Given the description of an element on the screen output the (x, y) to click on. 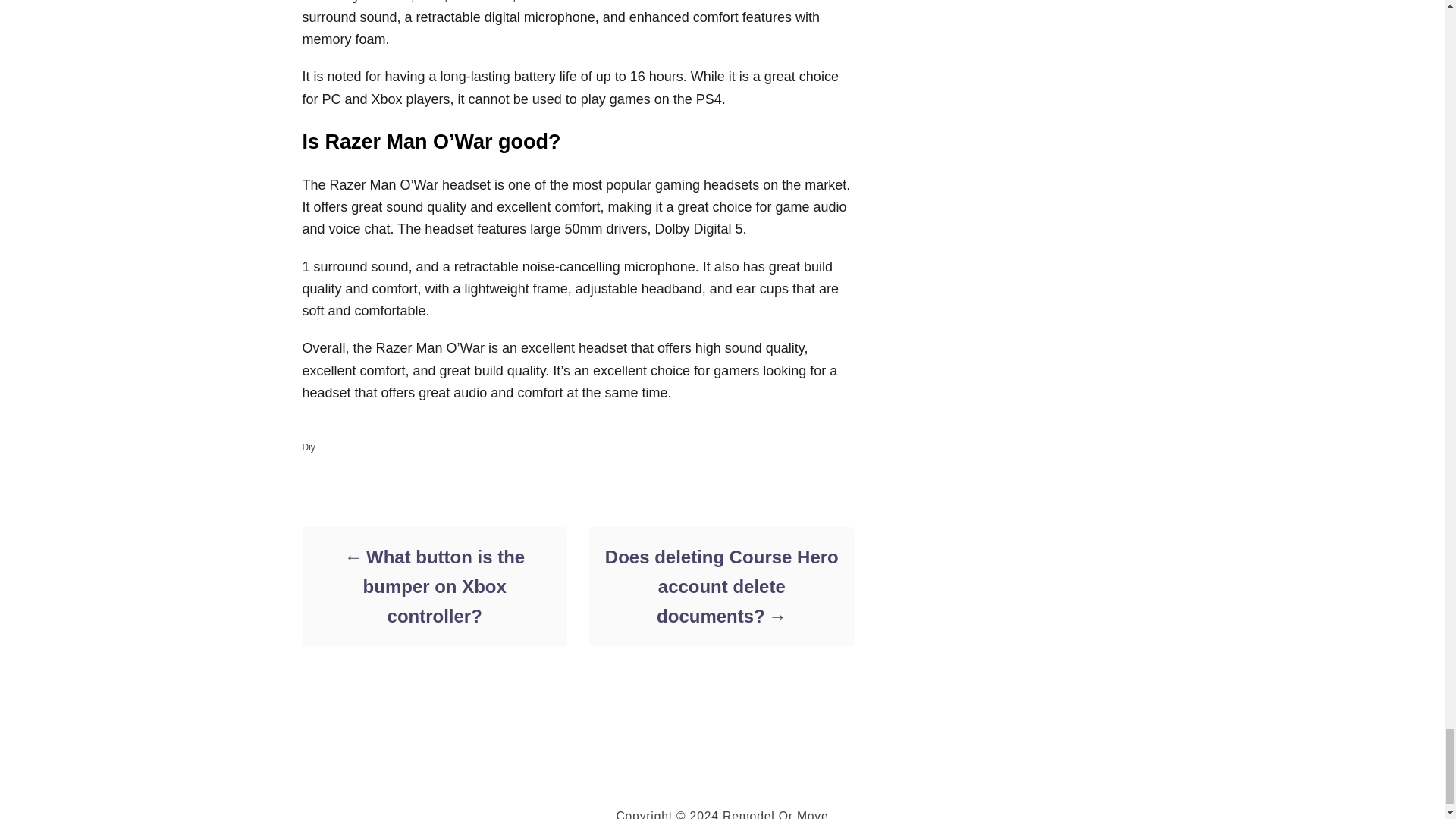
What button is the bumper on Xbox controller? (434, 586)
Does deleting Course Hero account delete documents? (721, 586)
Diy (307, 447)
